Given the description of an element on the screen output the (x, y) to click on. 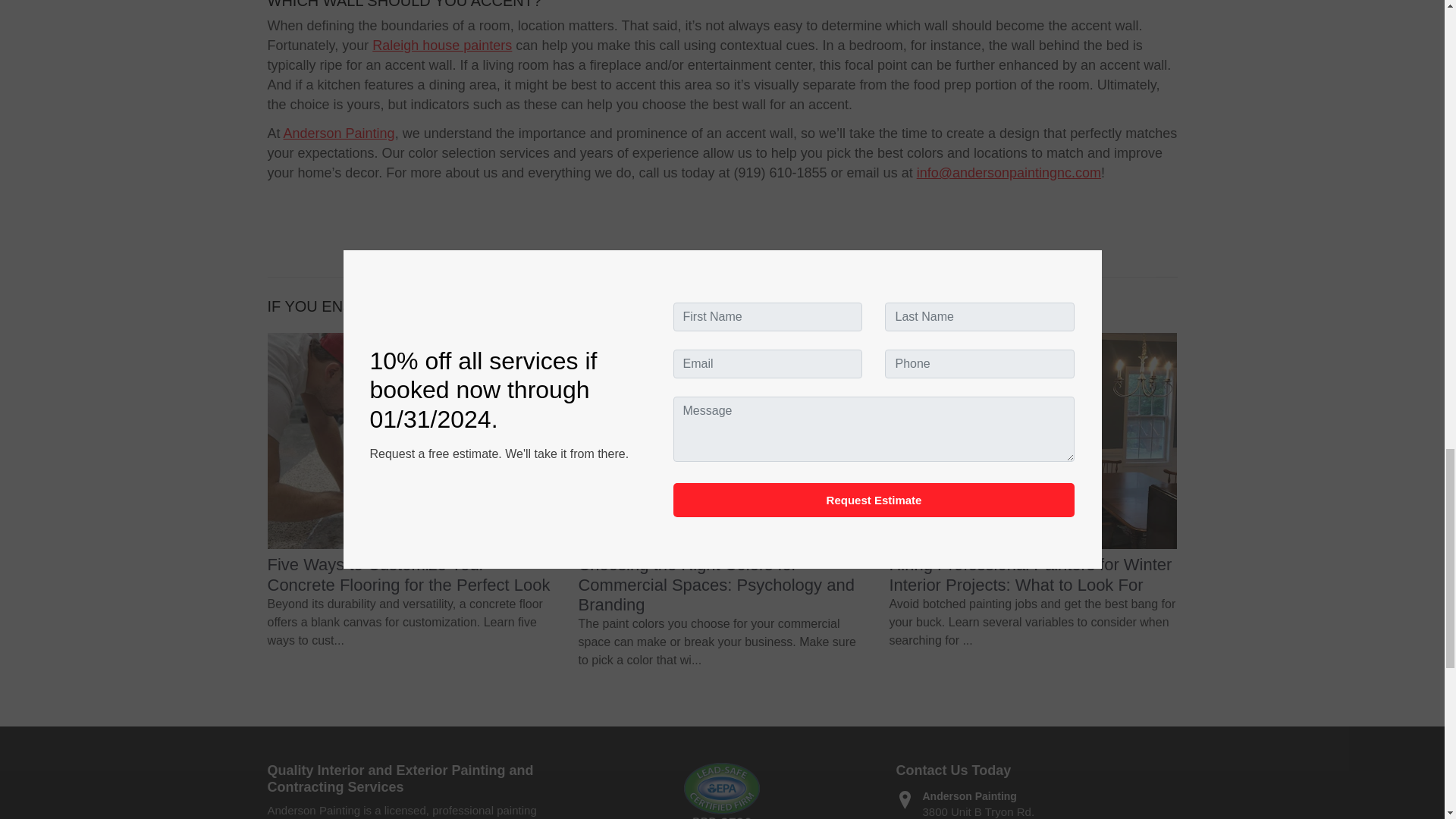
Anderson Painting (338, 133)
Raleigh house painters (442, 45)
